Given the description of an element on the screen output the (x, y) to click on. 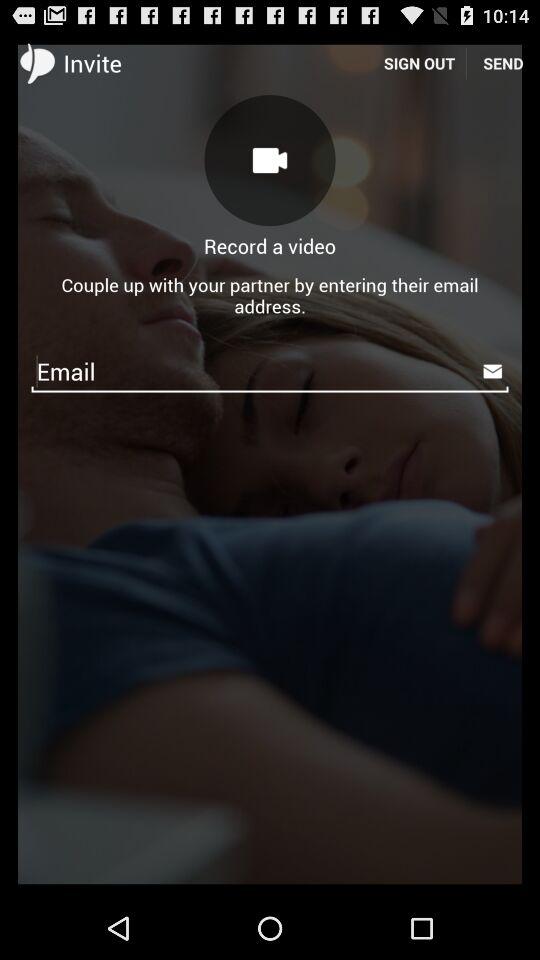
launch the icon to the left of the send icon (419, 62)
